Given the description of an element on the screen output the (x, y) to click on. 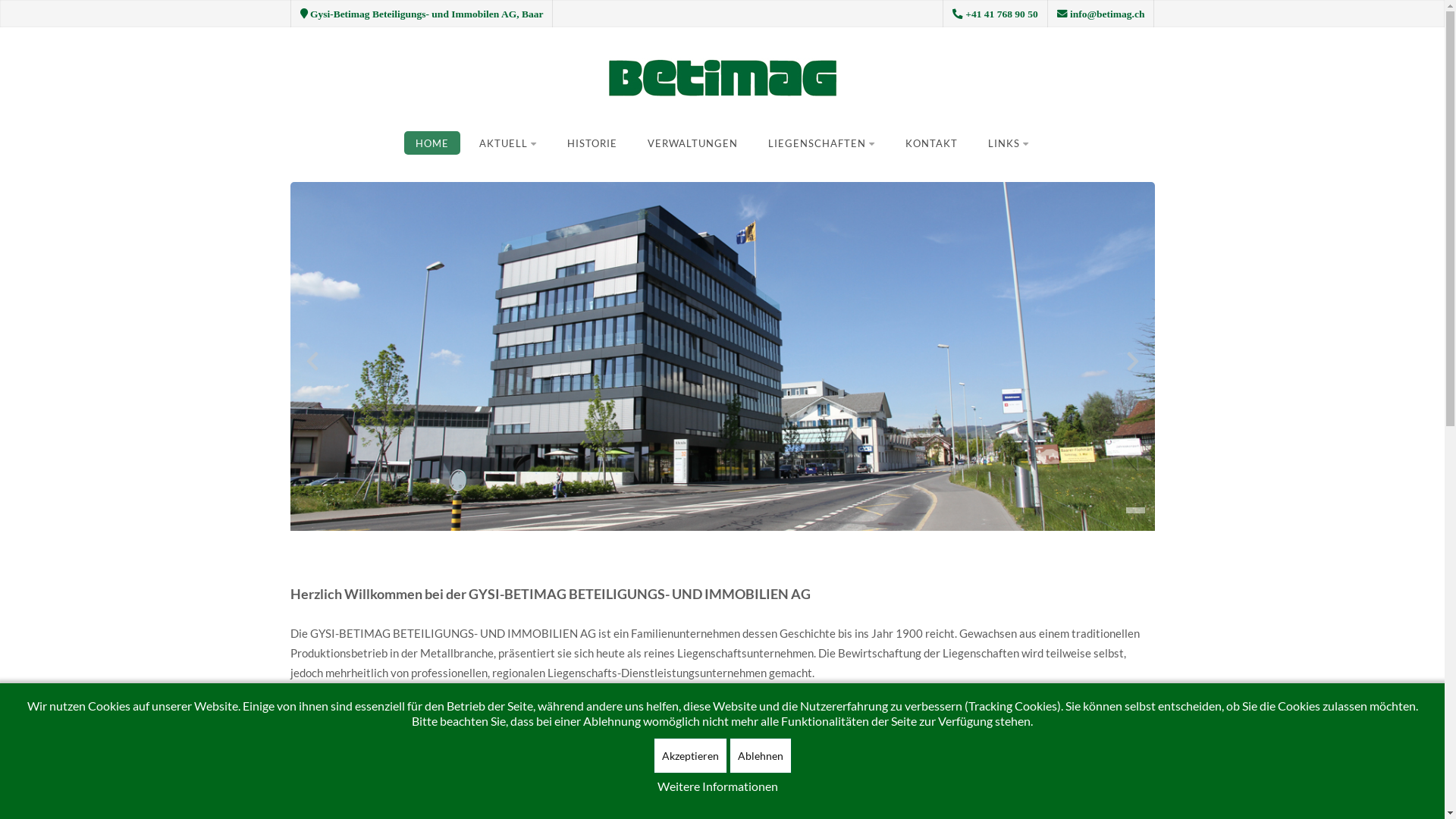
Akzeptieren Element type: text (690, 755)
KONTAKT Element type: text (931, 142)
HOME Element type: text (432, 142)
Ablehnen Element type: text (760, 755)
info@betimag.ch Element type: text (1107, 13)
AKTUELL Element type: text (507, 143)
Gysi-Betimag Beteiligungs- und Immobilen AG, Baar Element type: text (425, 13)
+41 41 768 90 50 Element type: text (1001, 13)
LIEGENSCHAFTEN Element type: text (821, 143)
LINKS Element type: text (1008, 143)
VERWALTUNGEN Element type: text (692, 142)
Weitere Informationen Element type: text (717, 786)
HISTORIE Element type: text (591, 142)
